Given the description of an element on the screen output the (x, y) to click on. 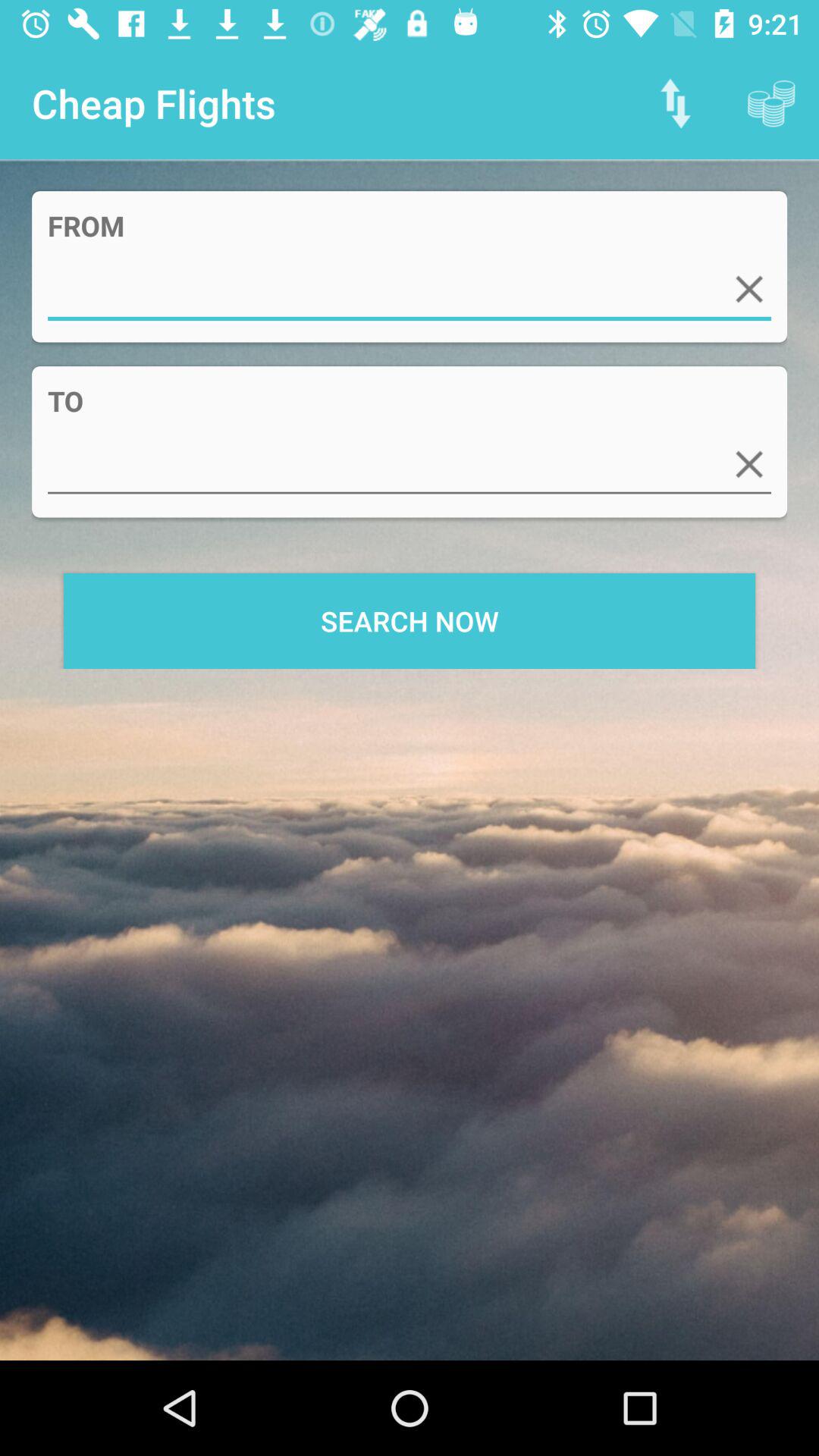
tap item above the to app (409, 289)
